Given the description of an element on the screen output the (x, y) to click on. 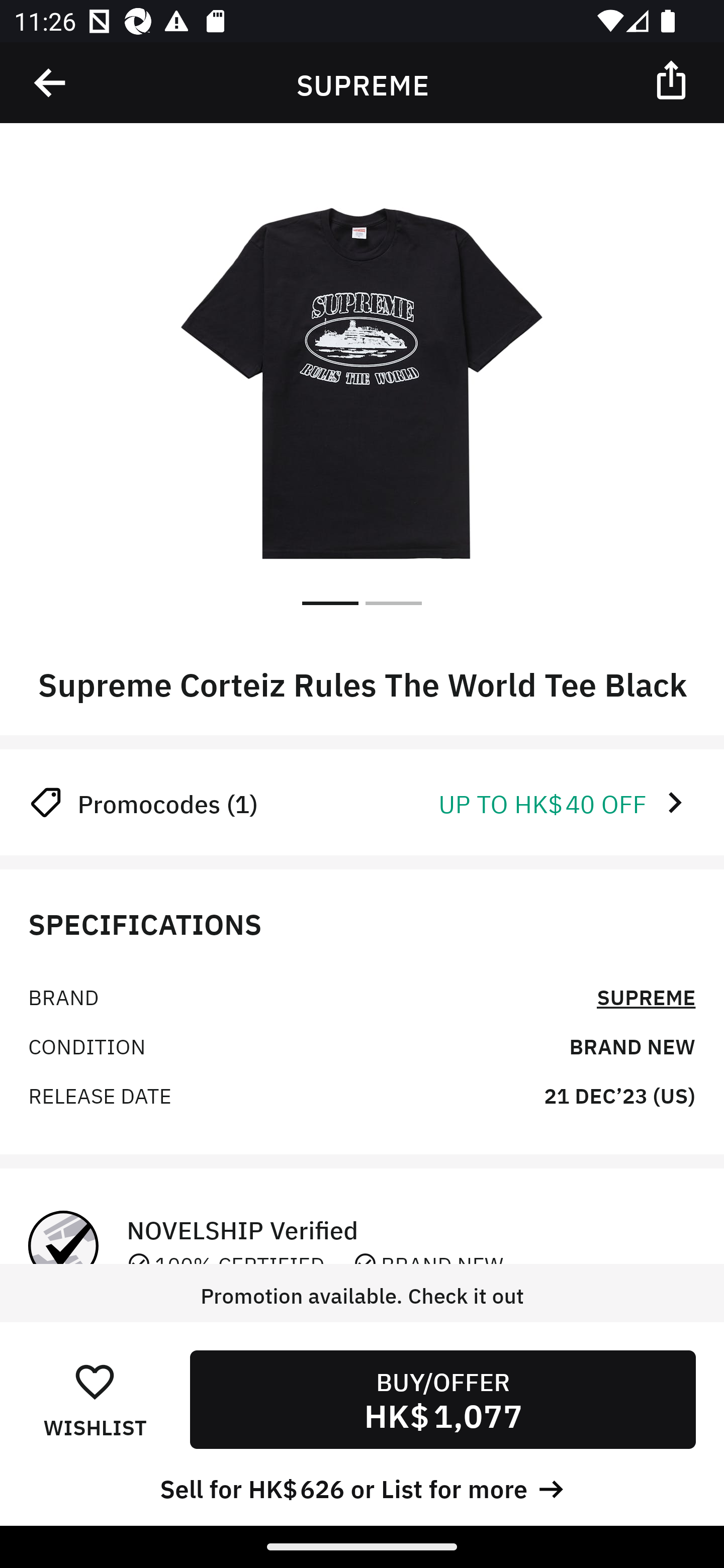
 (50, 83)
 (672, 79)
Promocodes (1) UP TO HK$ 40 OFF  (361, 801)
SUPREME (645, 995)
BRAND NEW (632, 1045)
21 DEC’23 (US) (619, 1094)
BUY/OFFER HK$ 1,077 (442, 1399)
󰋕 (94, 1380)
Sell for HK$ 626 or List for more (361, 1486)
